Given the description of an element on the screen output the (x, y) to click on. 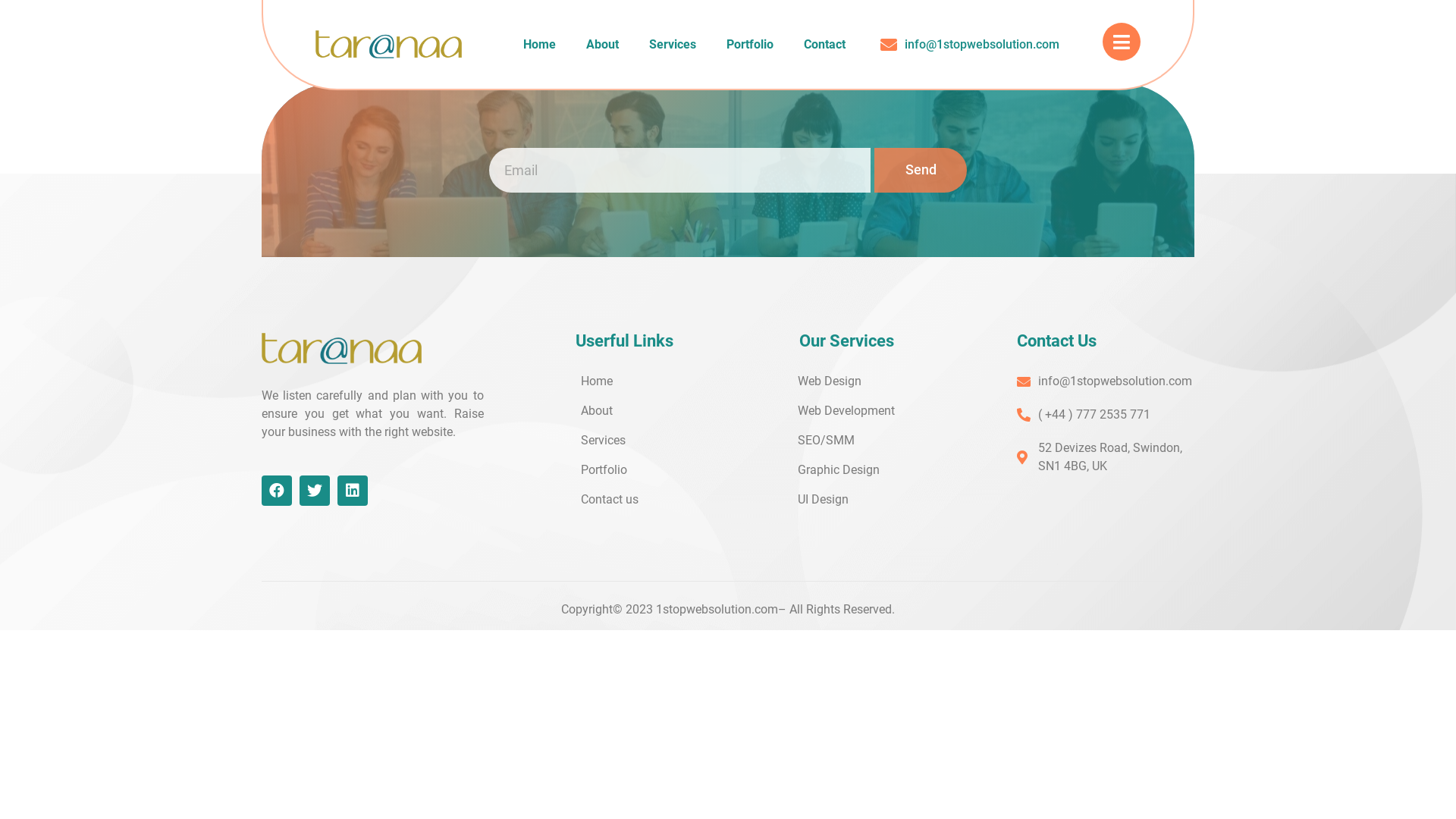
Contact Element type: text (824, 44)
Portfolio Element type: text (749, 44)
Send Element type: text (920, 169)
Home Element type: text (539, 44)
About Element type: text (602, 44)
Services Element type: text (672, 44)
